Given the description of an element on the screen output the (x, y) to click on. 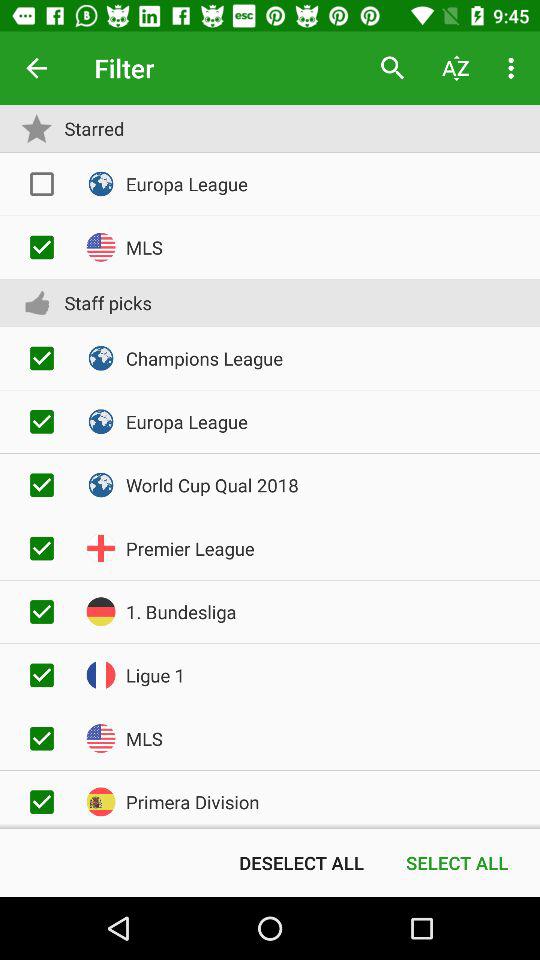
turn on icon above europa league (392, 68)
